Given the description of an element on the screen output the (x, y) to click on. 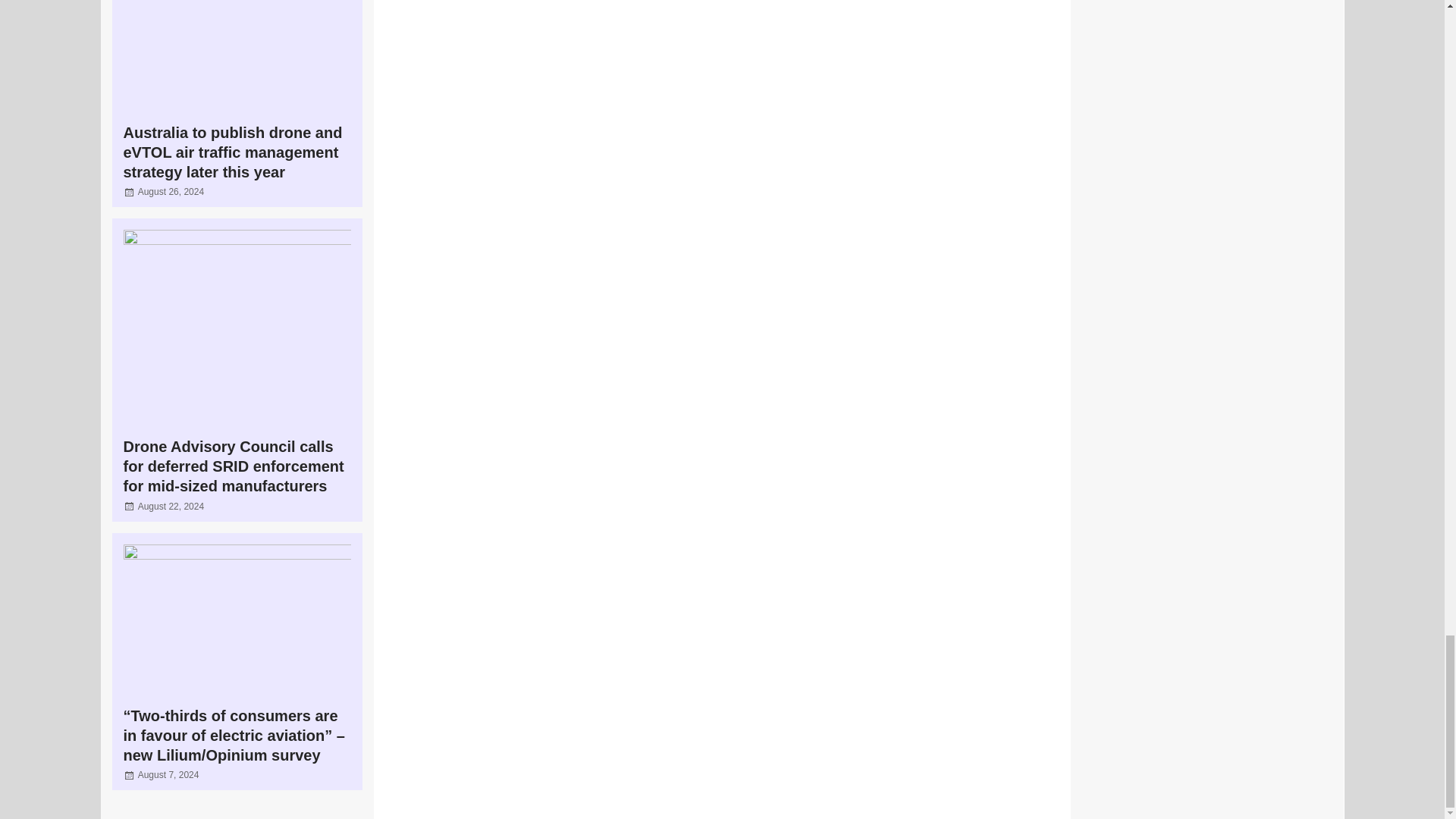
11:28 am (170, 506)
11:14 am (168, 774)
12:02 pm (170, 191)
